Given the description of an element on the screen output the (x, y) to click on. 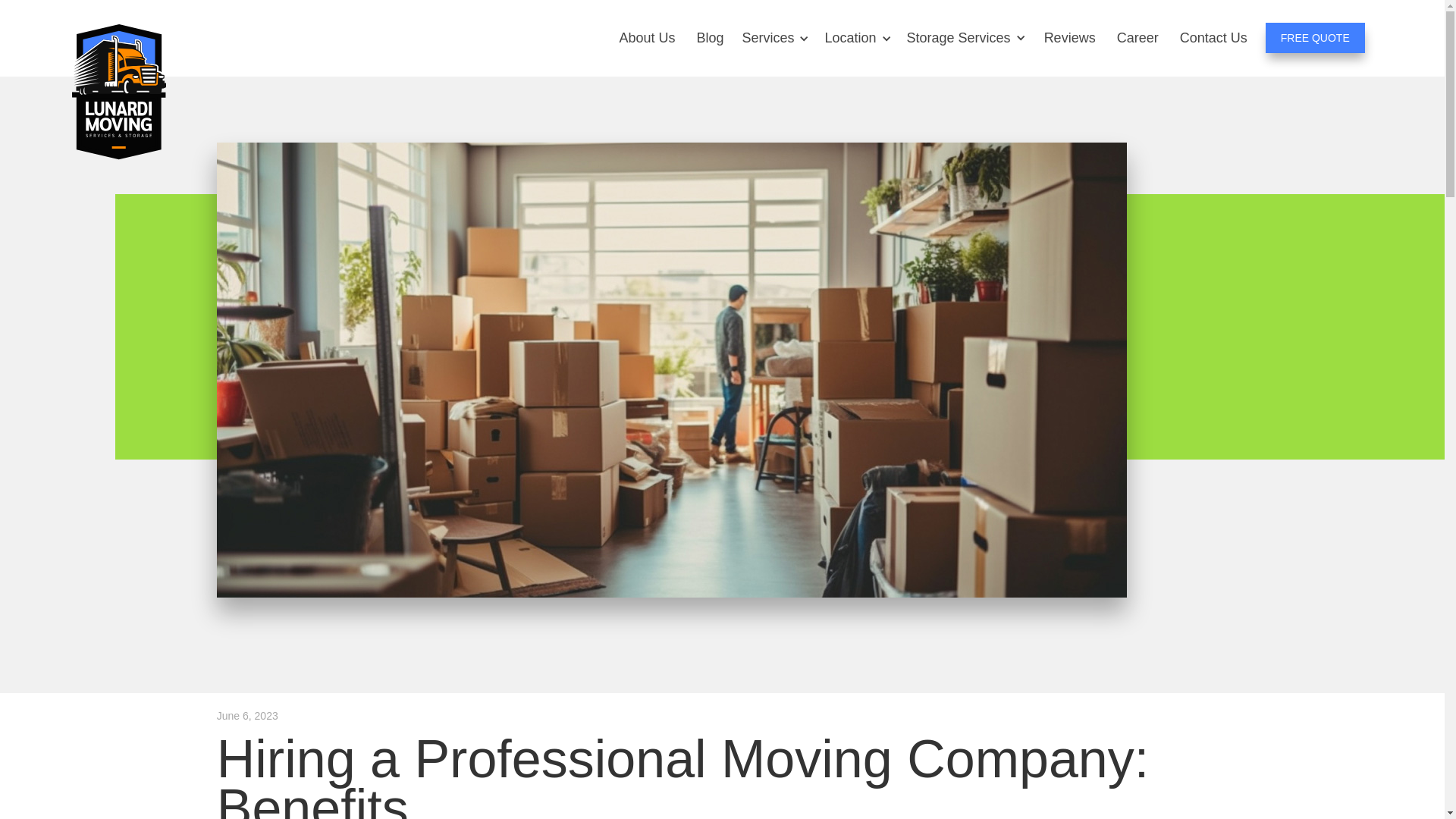
Career (1137, 37)
FREE QUOTE (1315, 37)
Location (850, 37)
Services (767, 37)
Review (1069, 37)
Career Opportunities (1137, 37)
Blog (709, 37)
Blog (709, 37)
Free Quote (1315, 37)
About Us (646, 37)
Reviews (1069, 37)
Hiring A Professional Moving Company Benefits (1213, 37)
Contact Us (1213, 37)
Location (850, 37)
Services (767, 37)
